Given the description of an element on the screen output the (x, y) to click on. 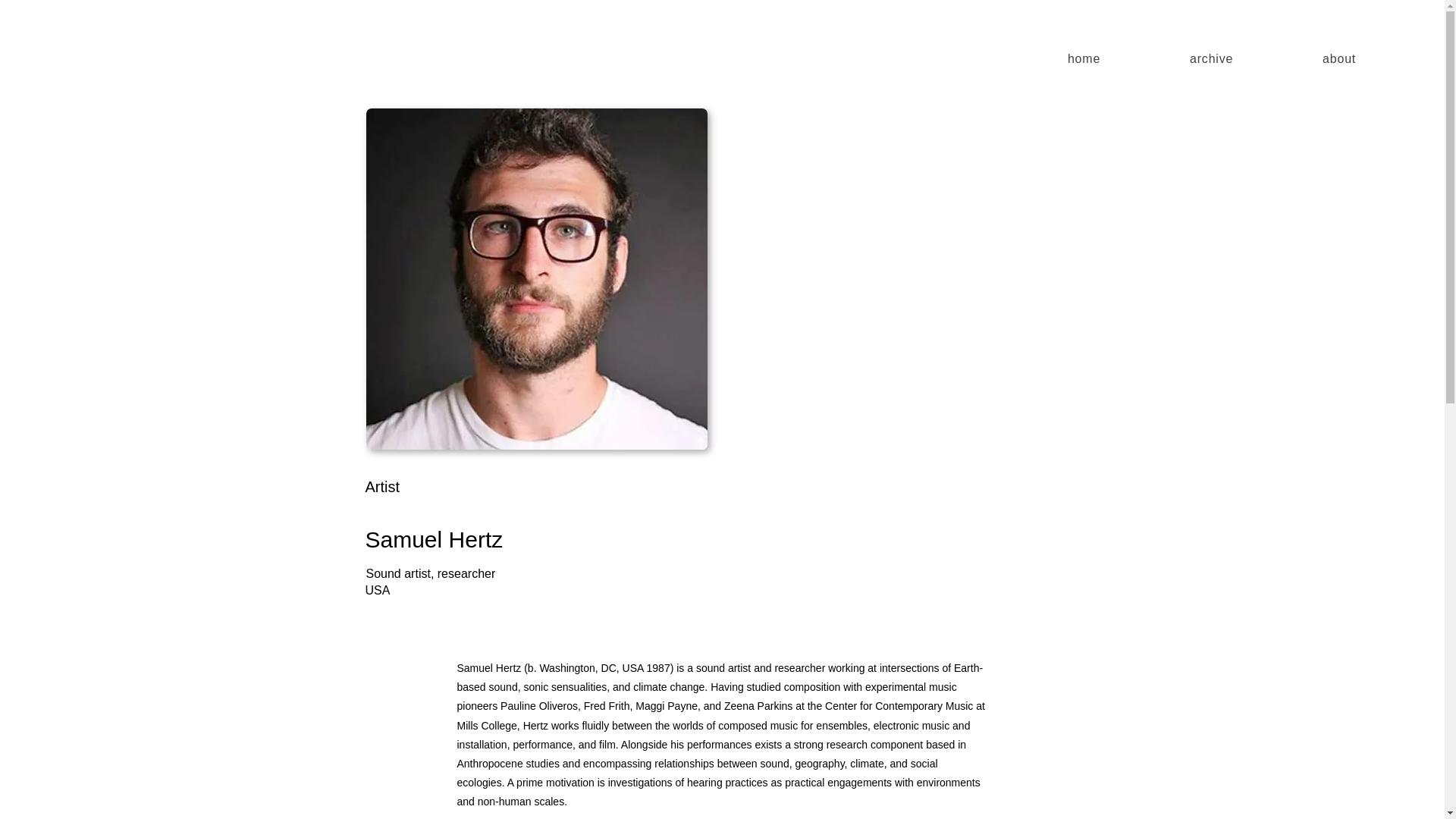
home (1083, 58)
archive (1211, 58)
about (1339, 58)
